Given the description of an element on the screen output the (x, y) to click on. 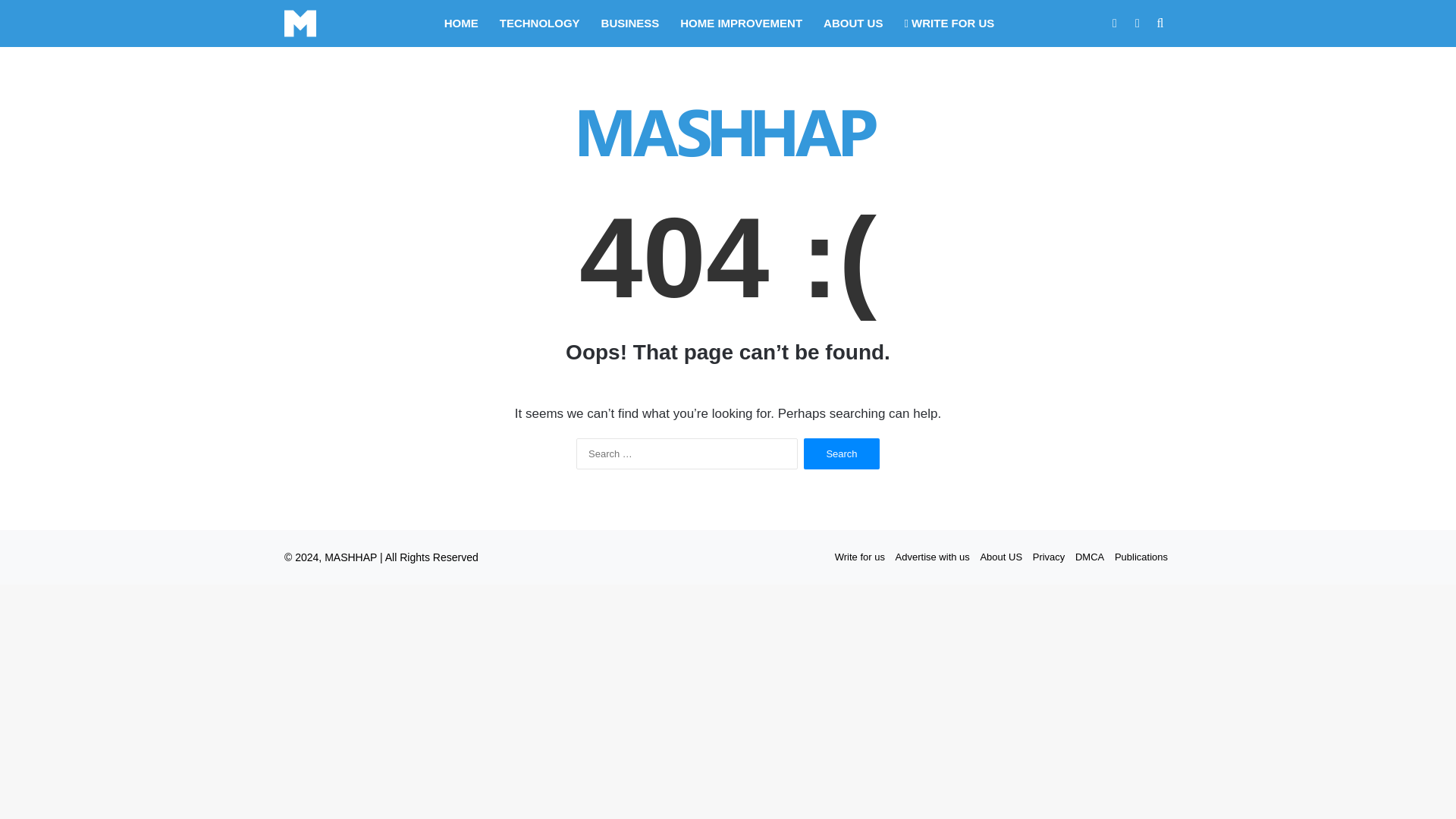
Publications (1141, 556)
About US (1000, 556)
HOME IMPROVEMENT (740, 23)
WRITE FOR US (948, 23)
HOME (461, 23)
TECHNOLOGY (540, 23)
Search (841, 453)
MASHHAP (299, 23)
MASHHAP (350, 557)
Privacy (1048, 556)
